Given the description of an element on the screen output the (x, y) to click on. 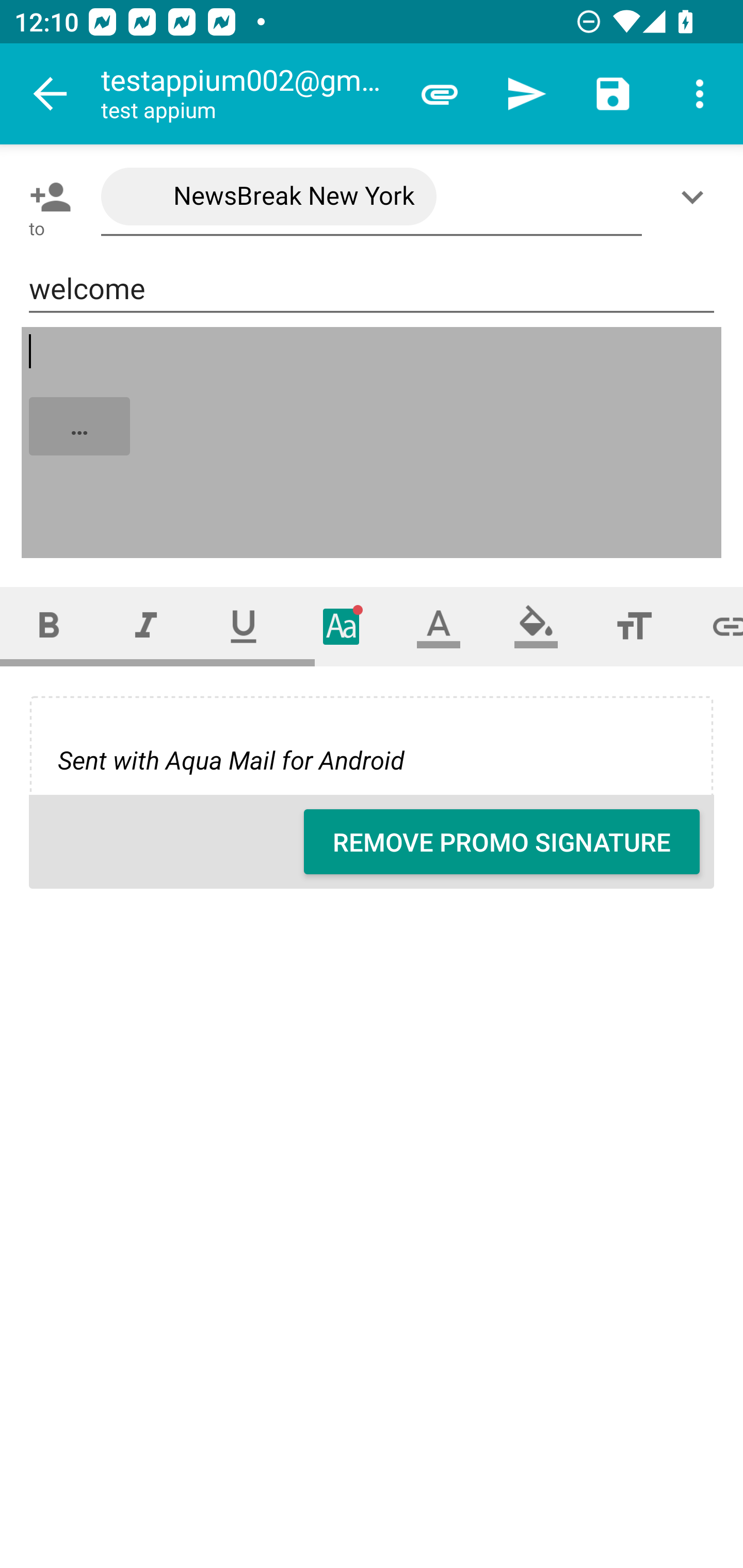
Navigate up (50, 93)
testappium002@gmail.com test appium (248, 93)
Attach (439, 93)
Send (525, 93)
Save (612, 93)
More options (699, 93)
Pick contact: To (46, 196)
Show/Add CC/BCC (696, 196)
welcome (371, 288)

…
 (372, 442)
Bold (48, 626)
Italic (145, 626)
Underline (243, 626)
Typeface (font) (341, 626)
Text color (438, 626)
Fill color (536, 626)
Font size (633, 626)
REMOVE PROMO SIGNATURE (501, 841)
